Given the description of an element on the screen output the (x, y) to click on. 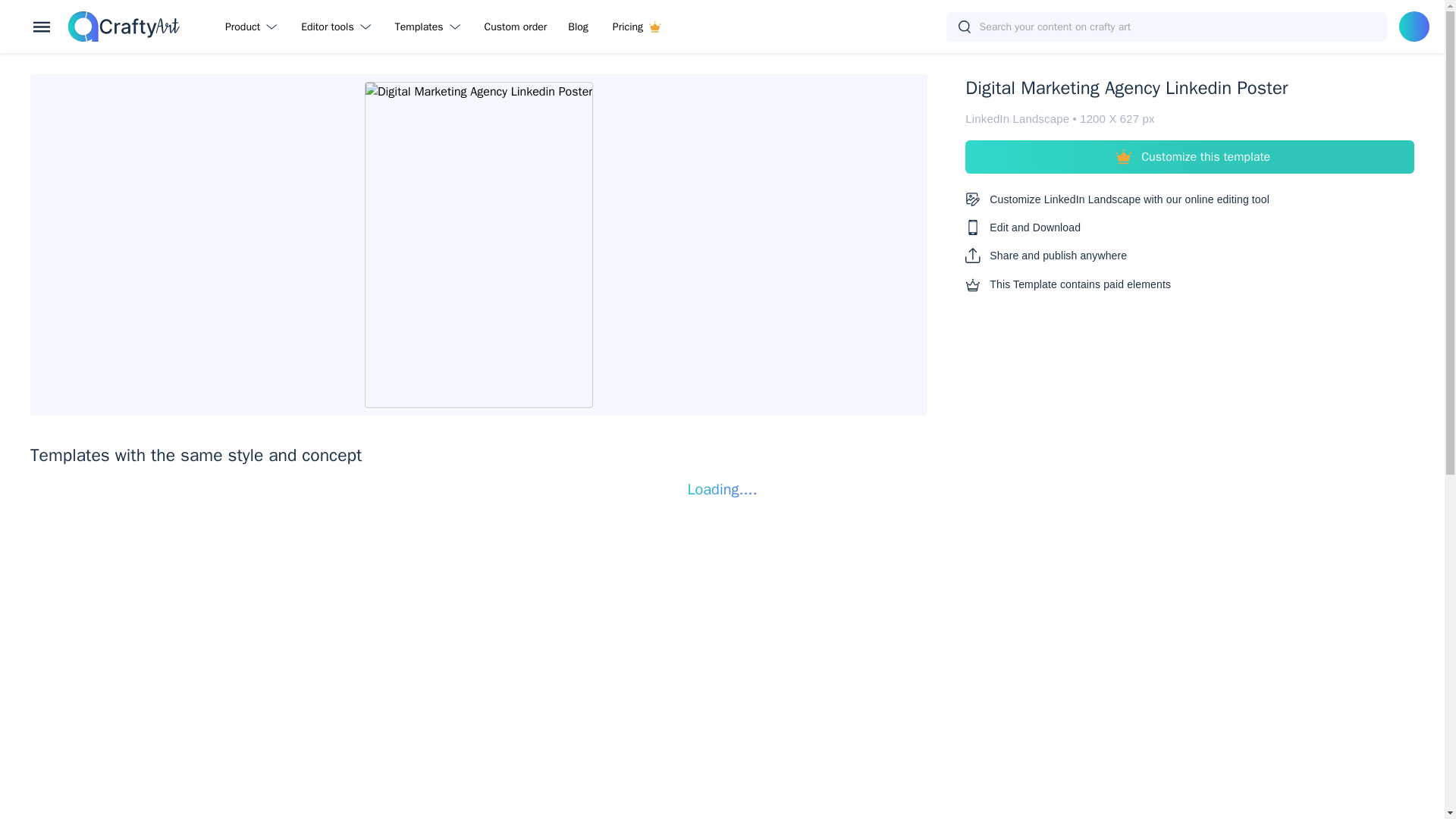
Pricing (635, 26)
Custom order (516, 26)
Templates (430, 26)
Product (253, 26)
Blog (577, 26)
Editor tools (338, 26)
